Given the description of an element on the screen output the (x, y) to click on. 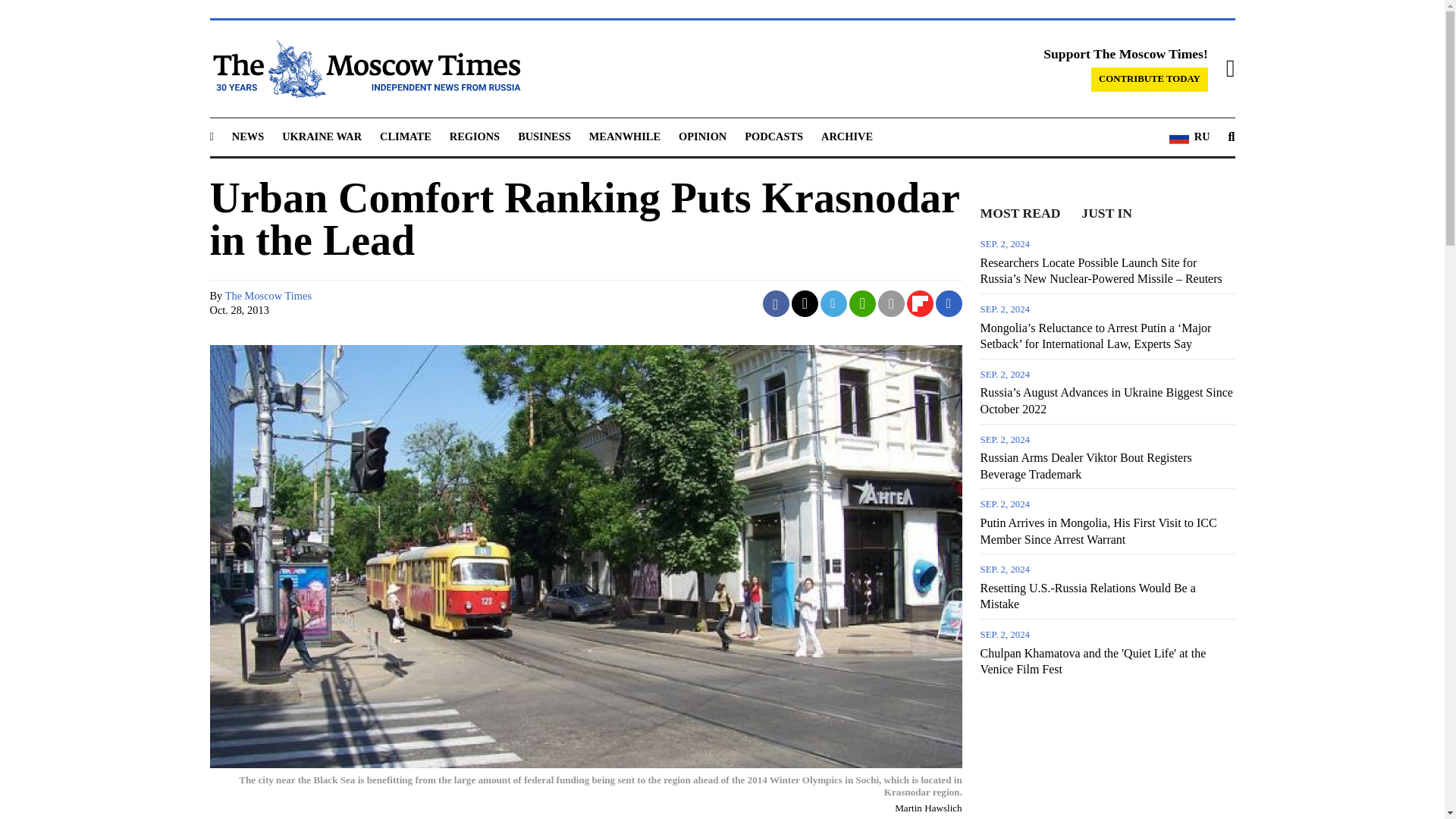
Share on Telegram (834, 303)
Share on Twitter (805, 303)
CLIMATE (405, 136)
Share on Flipboard (920, 303)
BUSINESS (544, 136)
RU (1189, 137)
UKRAINE WAR (321, 136)
CONTRIBUTE TODAY (1149, 79)
The Moscow Times - Independent News from Russia (364, 68)
Share on Facebook (775, 303)
